Given the description of an element on the screen output the (x, y) to click on. 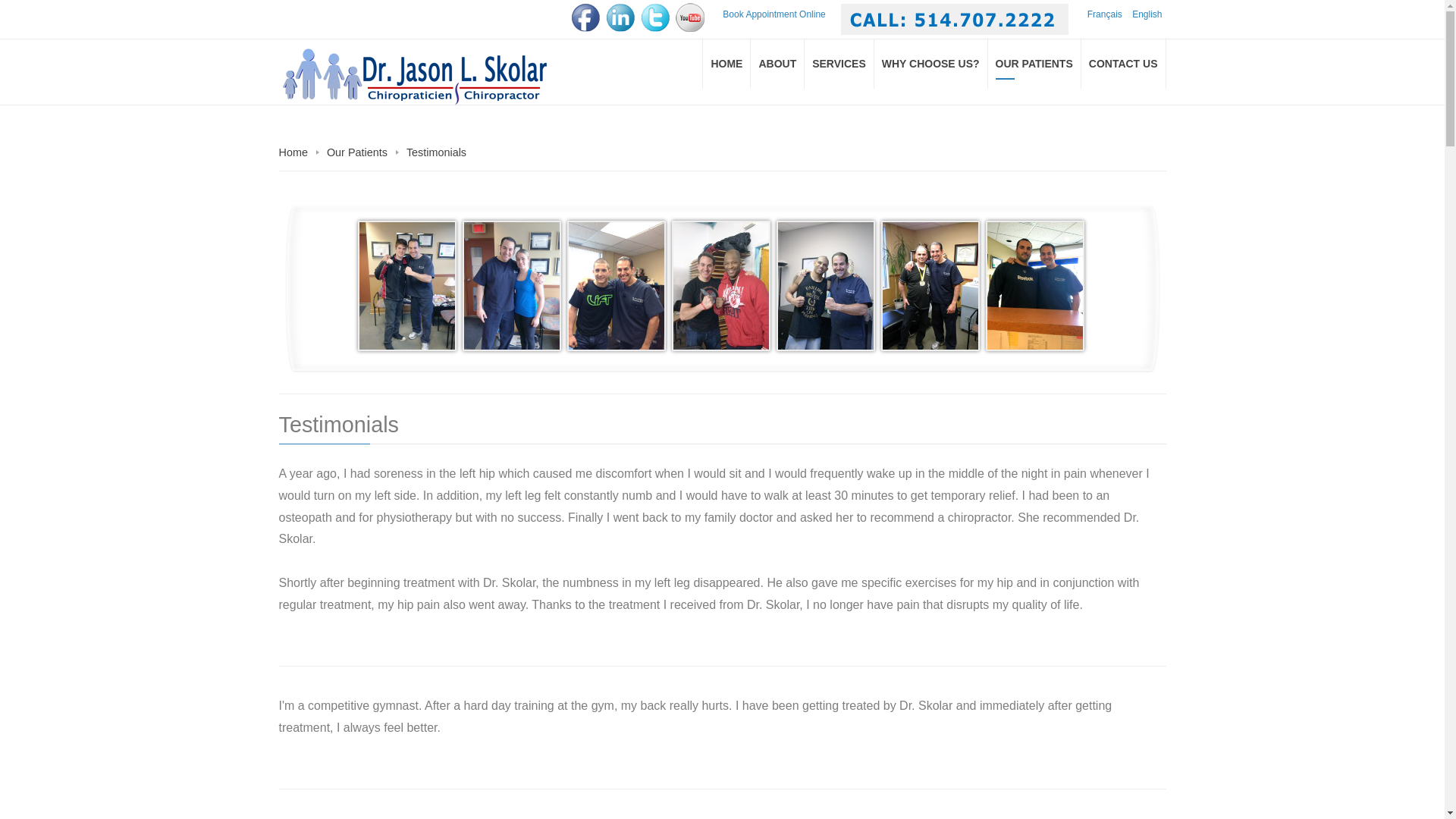
WHY CHOOSE US? (931, 63)
CONTACT US (1123, 63)
OUR PATIENTS (1034, 63)
English (1146, 14)
HOME (726, 63)
Call: 514.707.2222 (954, 19)
LinkedIn (619, 17)
SERVICES (840, 63)
YouTube (689, 17)
Twitter (654, 17)
Book Appointment Online (773, 14)
ABOUT (778, 63)
Facebook (584, 17)
